Given the description of an element on the screen output the (x, y) to click on. 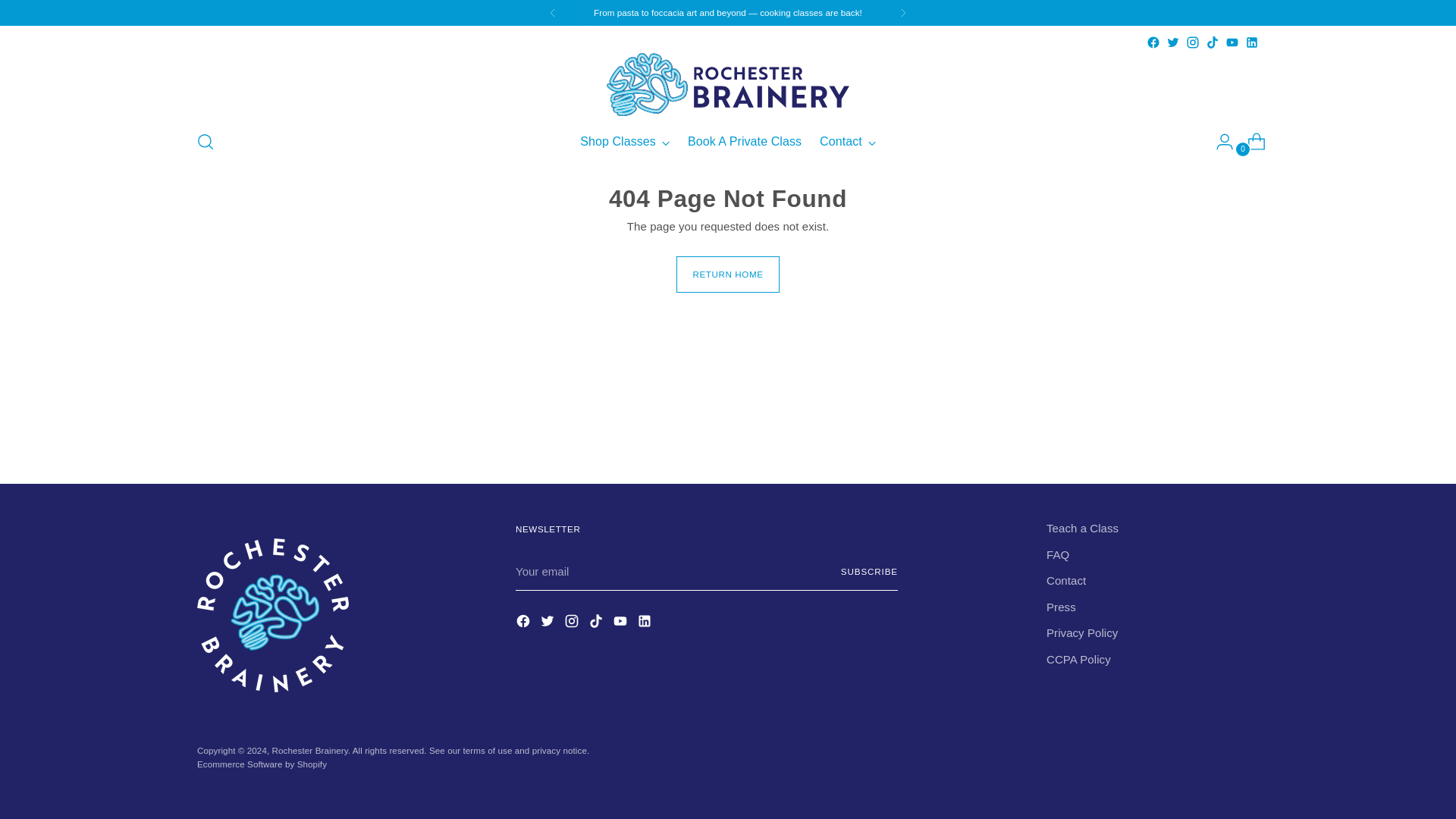
Previous (552, 12)
Rochester Brainery on Instagram (1192, 42)
Rochester Brainery on LinkedIn (646, 623)
Rochester Brainery on Facebook (524, 623)
Rochester Brainery on Twitter (548, 623)
Rochester Brainery on YouTube (621, 623)
Rochester Brainery on Tiktok (597, 623)
Rochester Brainery on LinkedIn (1251, 42)
Rochester Brainery on Facebook (1153, 42)
Rochester Brainery on Tiktok (727, 141)
Rochester Brainery on YouTube (1212, 42)
Next (1232, 42)
Book A Private Class (903, 12)
Shop Classes (744, 141)
